Given the description of an element on the screen output the (x, y) to click on. 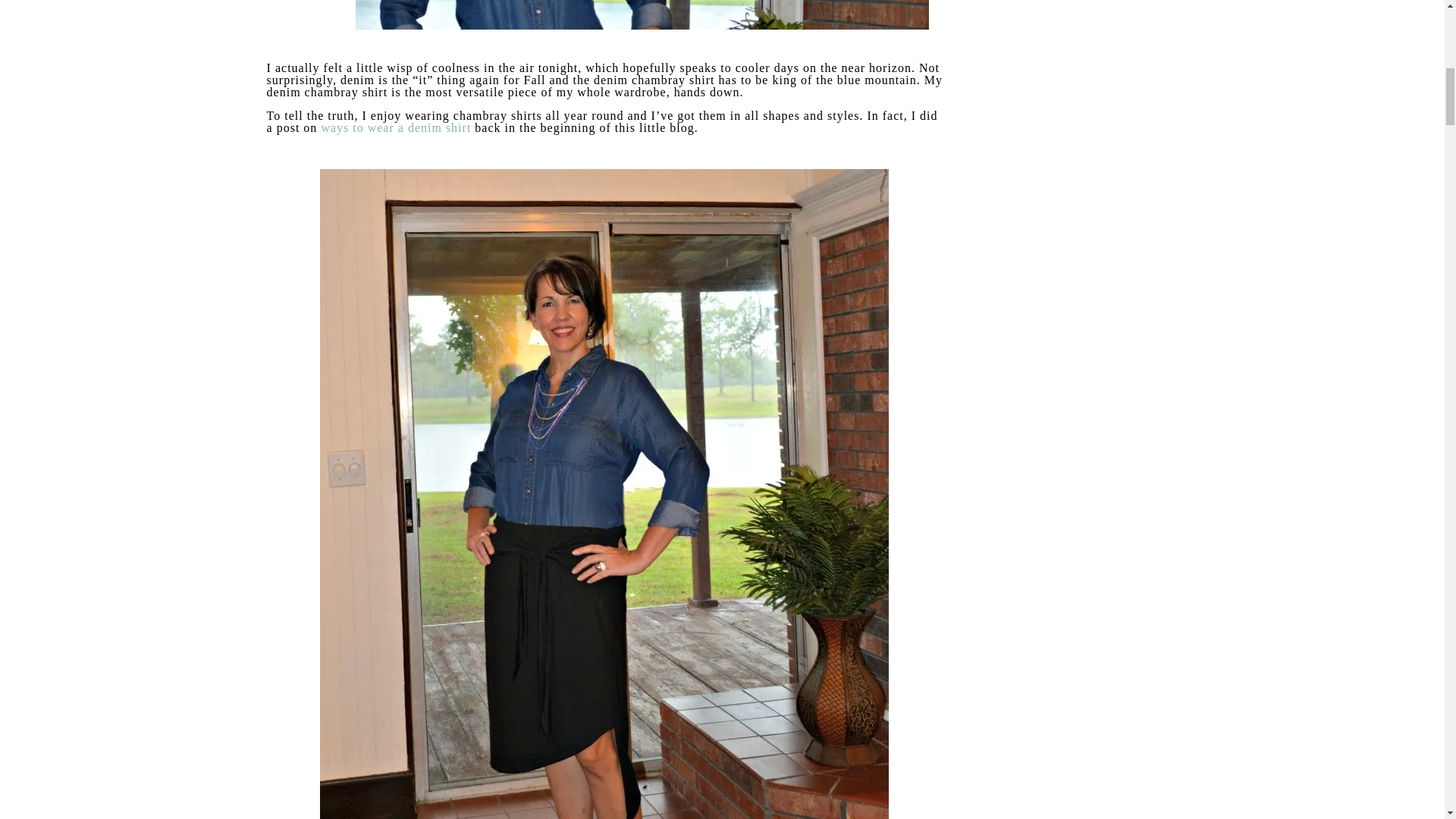
ways to wear a denim shirt (395, 127)
